Given the description of an element on the screen output the (x, y) to click on. 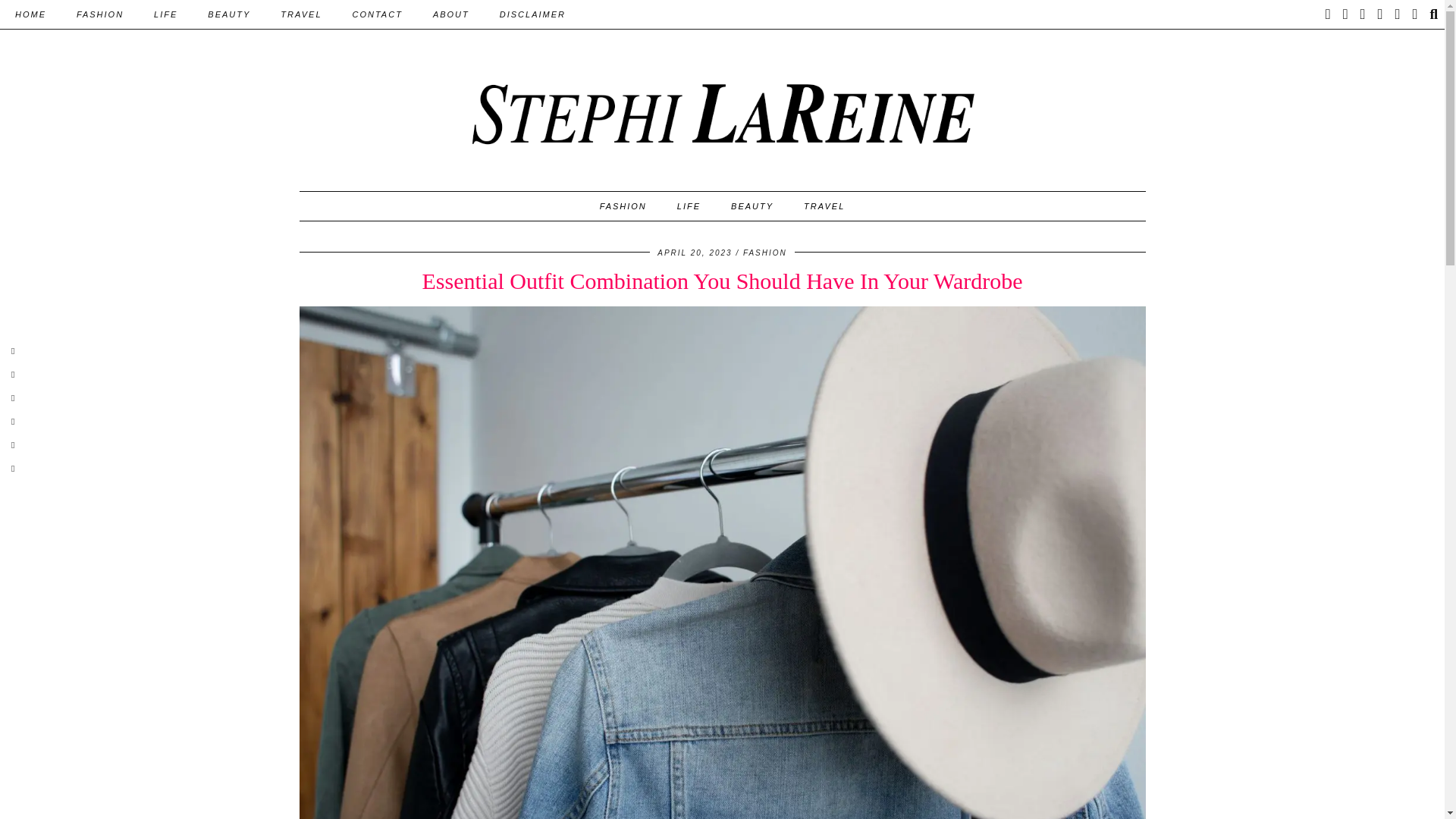
BEAUTY (228, 14)
FASHION (99, 14)
LIFE (165, 14)
TRAVEL (300, 14)
HOME (30, 14)
CONTACT (377, 14)
